Given the description of an element on the screen output the (x, y) to click on. 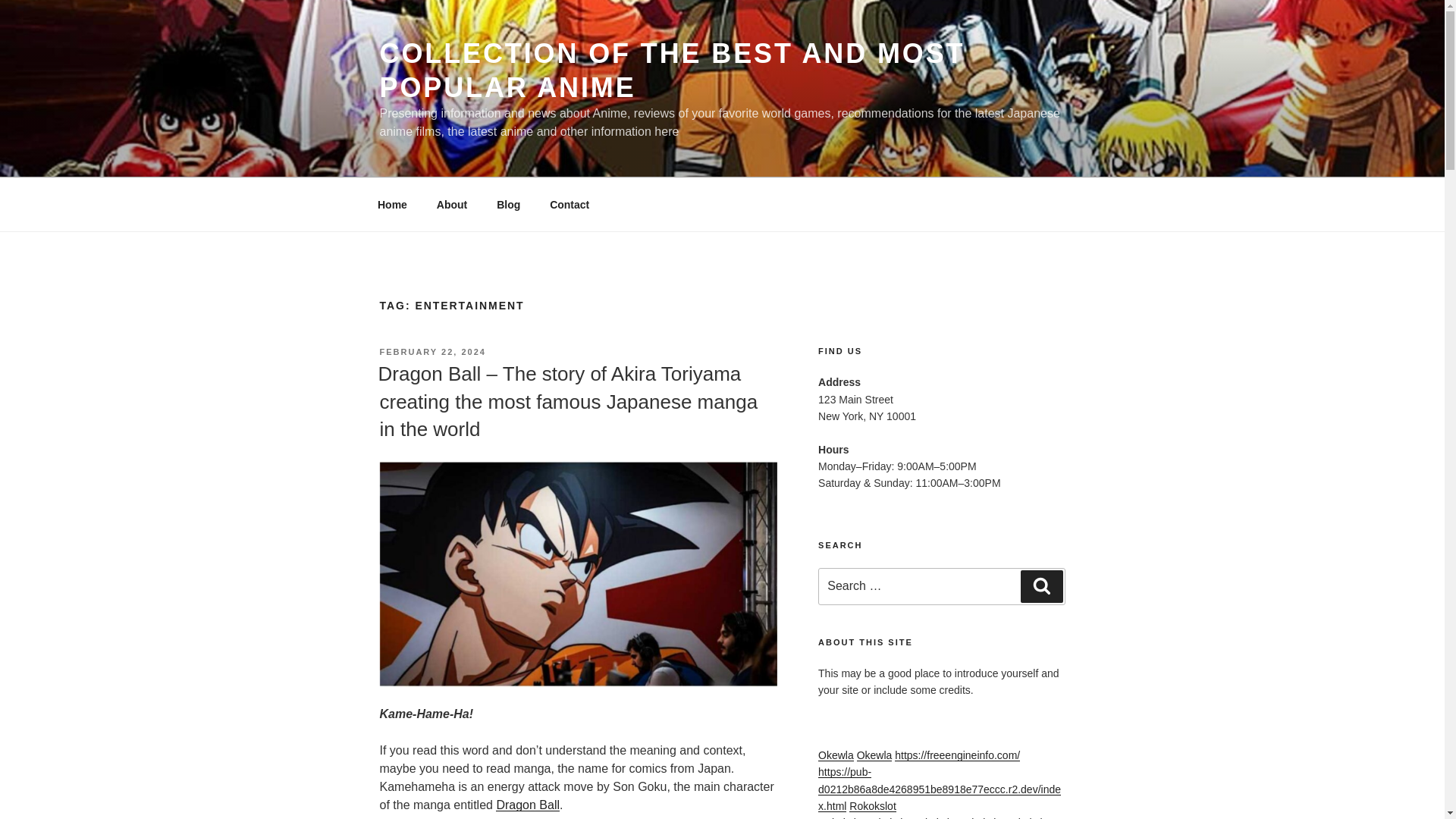
Contact (569, 204)
About (451, 204)
FEBRUARY 22, 2024 (431, 351)
Blog (508, 204)
Home (392, 204)
Dragon Ball (527, 804)
COLLECTION OF THE BEST AND MOST POPULAR ANIME (670, 70)
Search (1041, 585)
